Given the description of an element on the screen output the (x, y) to click on. 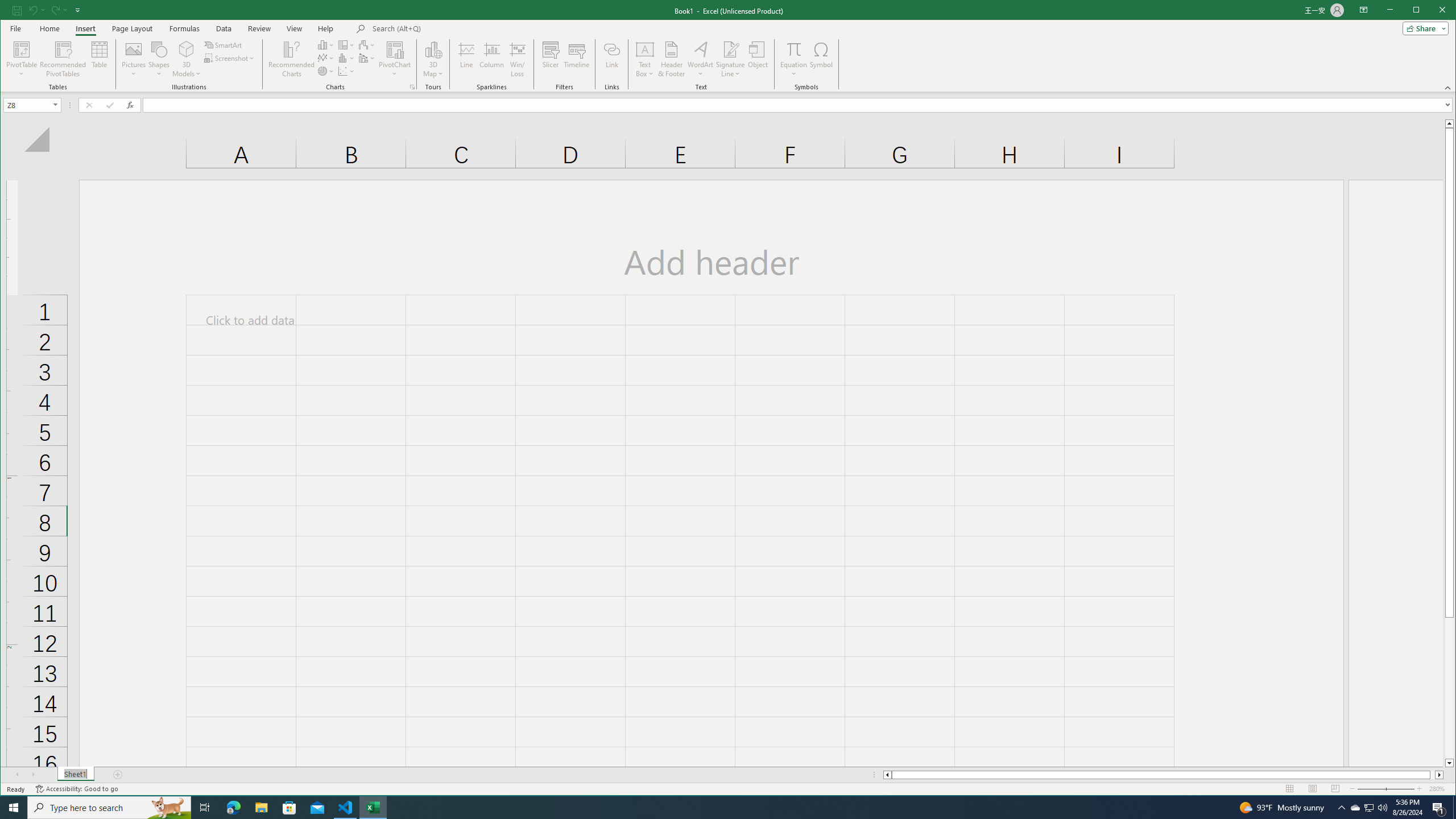
Insert Line or Area Chart (1368, 807)
Table (325, 57)
Pictures (99, 59)
Symbol... (133, 59)
Formula Bar (821, 59)
